Given the description of an element on the screen output the (x, y) to click on. 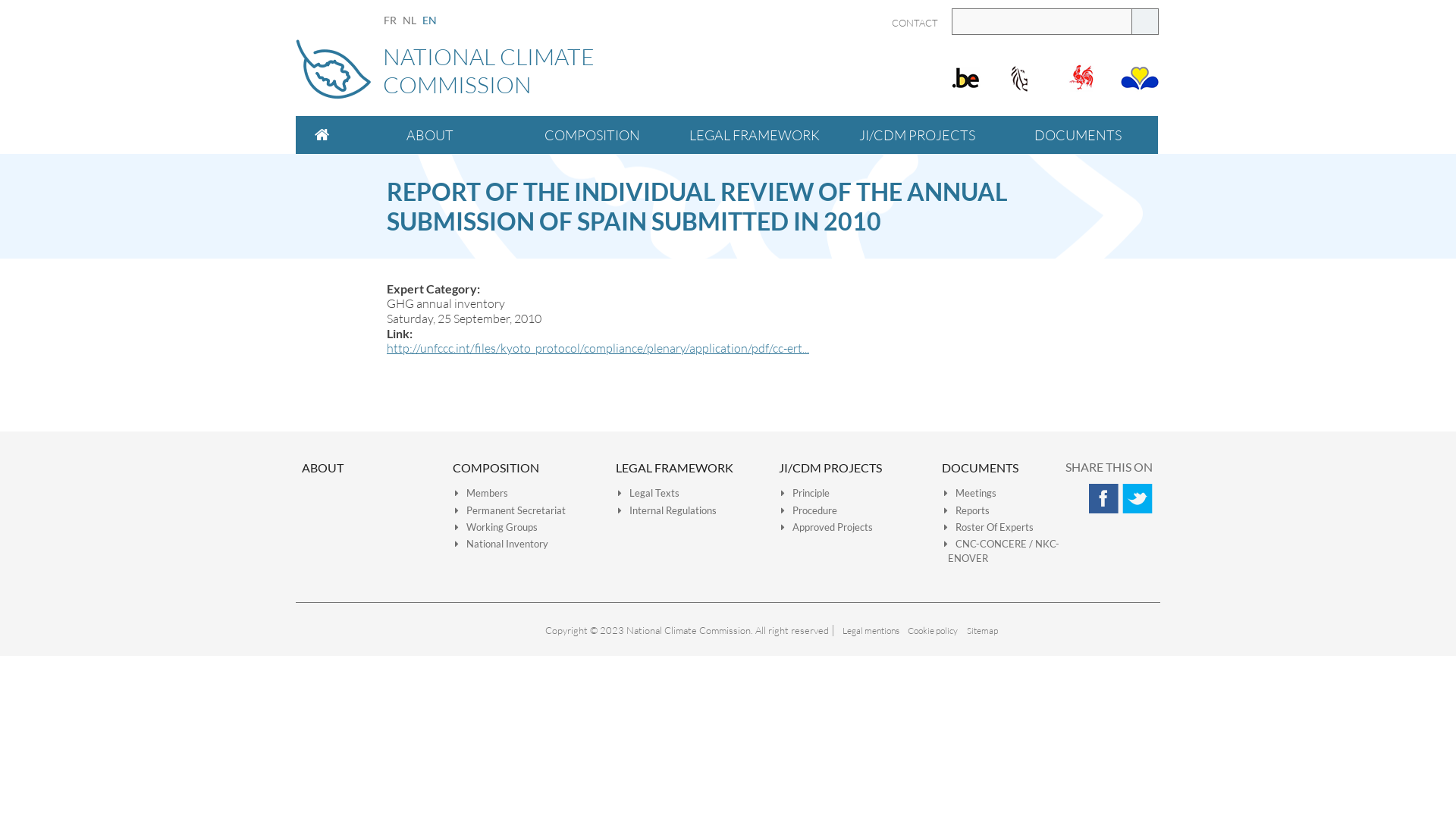
FR Element type: text (389, 19)
Internal Regulations Element type: text (667, 510)
Search Element type: text (1145, 21)
Approved Projects Element type: text (826, 526)
ABOUT Element type: text (429, 134)
Procedure Element type: text (809, 510)
LEGAL FRAMEWORK Element type: text (674, 467)
JI/CDM PROJECTS Element type: text (916, 134)
Permanent Secretariat Element type: text (510, 510)
Skip to main content Element type: text (53, 0)
LEGAL FRAMEWORK Element type: text (754, 134)
NATIONAL CLIMATE COMMISSION Element type: text (727, 72)
JI/CDM PROJECTS Element type: text (829, 467)
CNC-CONCERE / NKC-ENOVER Element type: text (1001, 550)
Legal Texts Element type: text (648, 492)
Meetings Element type: text (970, 492)
Sitemap Element type: text (981, 630)
Cookie policy Element type: text (932, 630)
Legal mentions Element type: text (869, 630)
HOME Element type: text (321, 134)
NL Element type: text (409, 19)
Reports Element type: text (966, 510)
Roster Of Experts Element type: text (988, 526)
CONTACT Element type: text (914, 22)
National Inventory Element type: text (501, 543)
COMPOSITION Element type: text (495, 467)
Members Element type: text (481, 492)
Working Groups Element type: text (496, 526)
ABOUT Element type: text (322, 467)
COMPOSITION Element type: text (592, 134)
DOCUMENTS Element type: text (1077, 134)
DOCUMENTS Element type: text (979, 467)
Principle Element type: text (805, 492)
EN Element type: text (429, 19)
